Given the description of an element on the screen output the (x, y) to click on. 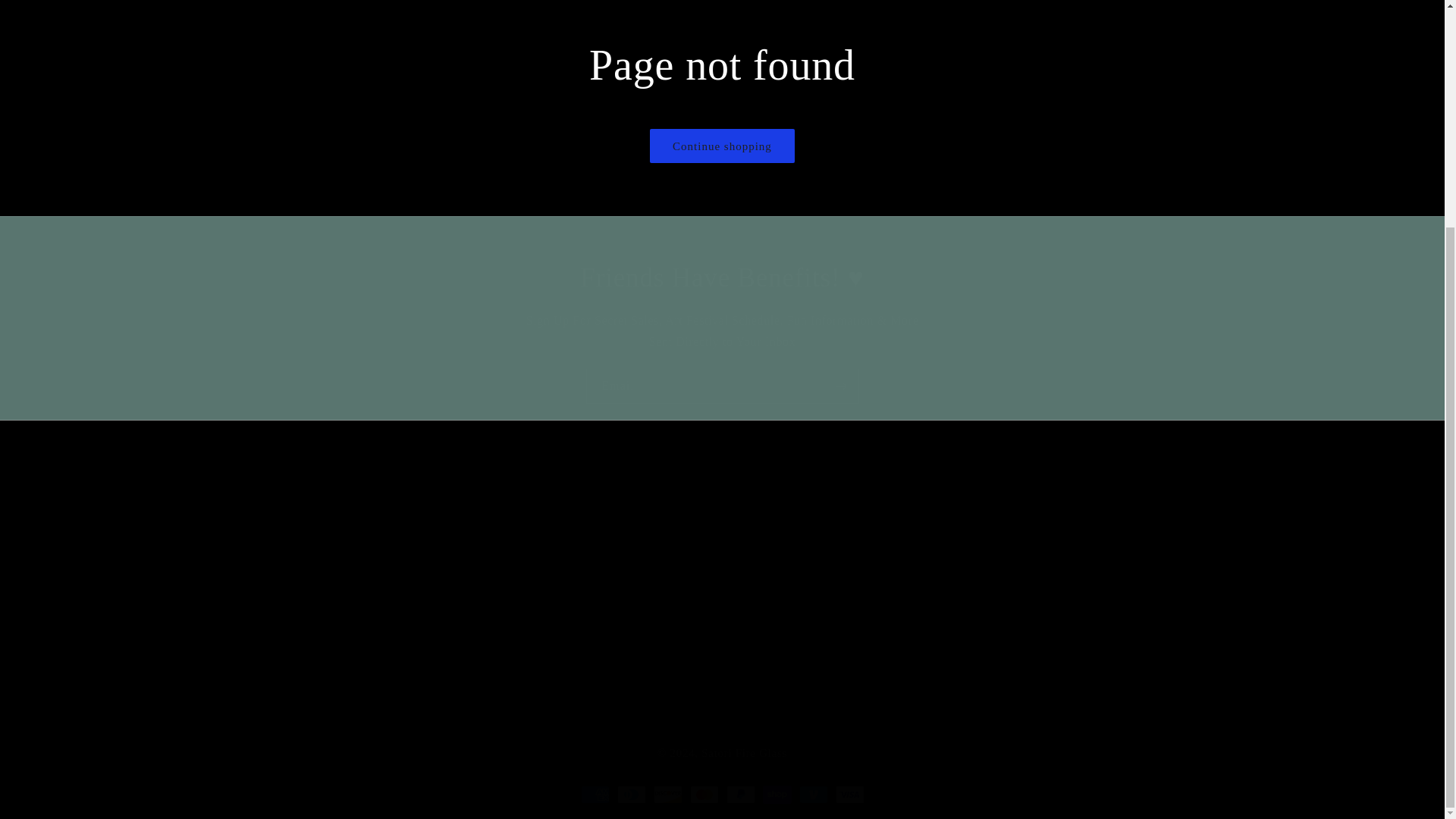
Email (722, 386)
